Given the description of an element on the screen output the (x, y) to click on. 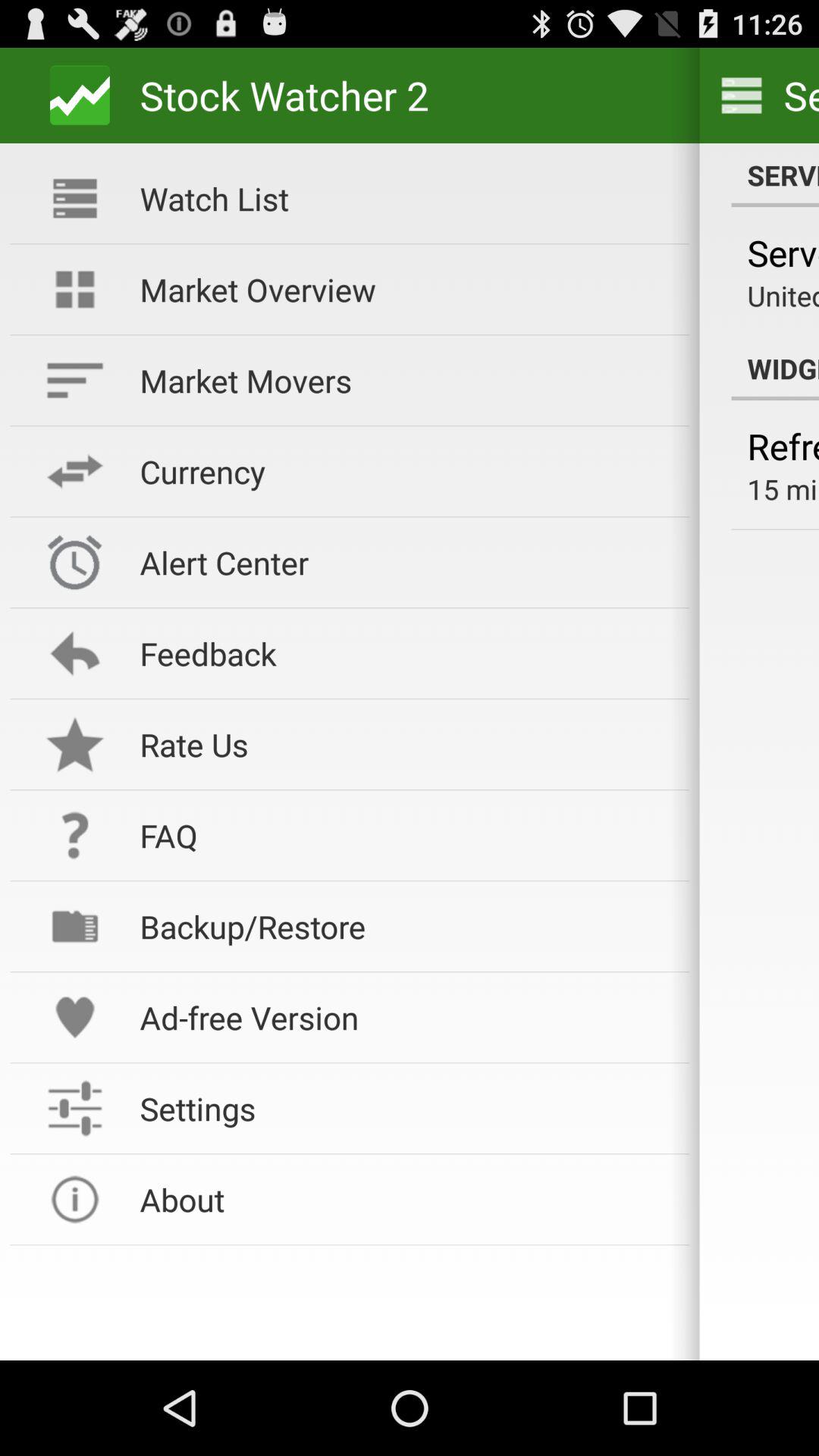
turn on the alert center icon (404, 562)
